Given the description of an element on the screen output the (x, y) to click on. 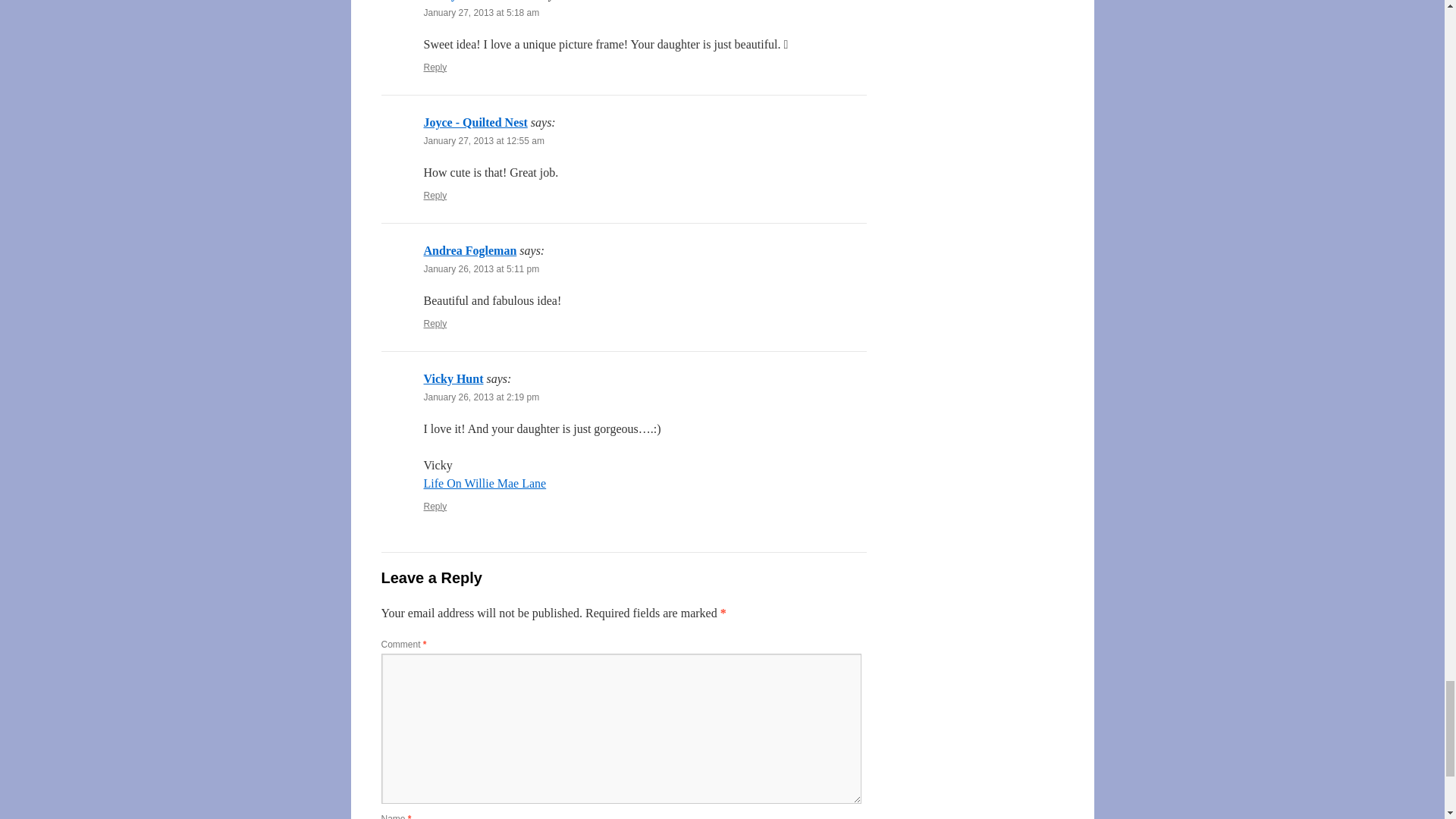
Andrea Fogleman (469, 250)
Reply (434, 195)
January 27, 2013 at 5:18 am (480, 12)
January 27, 2013 at 12:55 am (483, 140)
Joyce - Quilted Nest (475, 122)
Reply (434, 67)
